Given the description of an element on the screen output the (x, y) to click on. 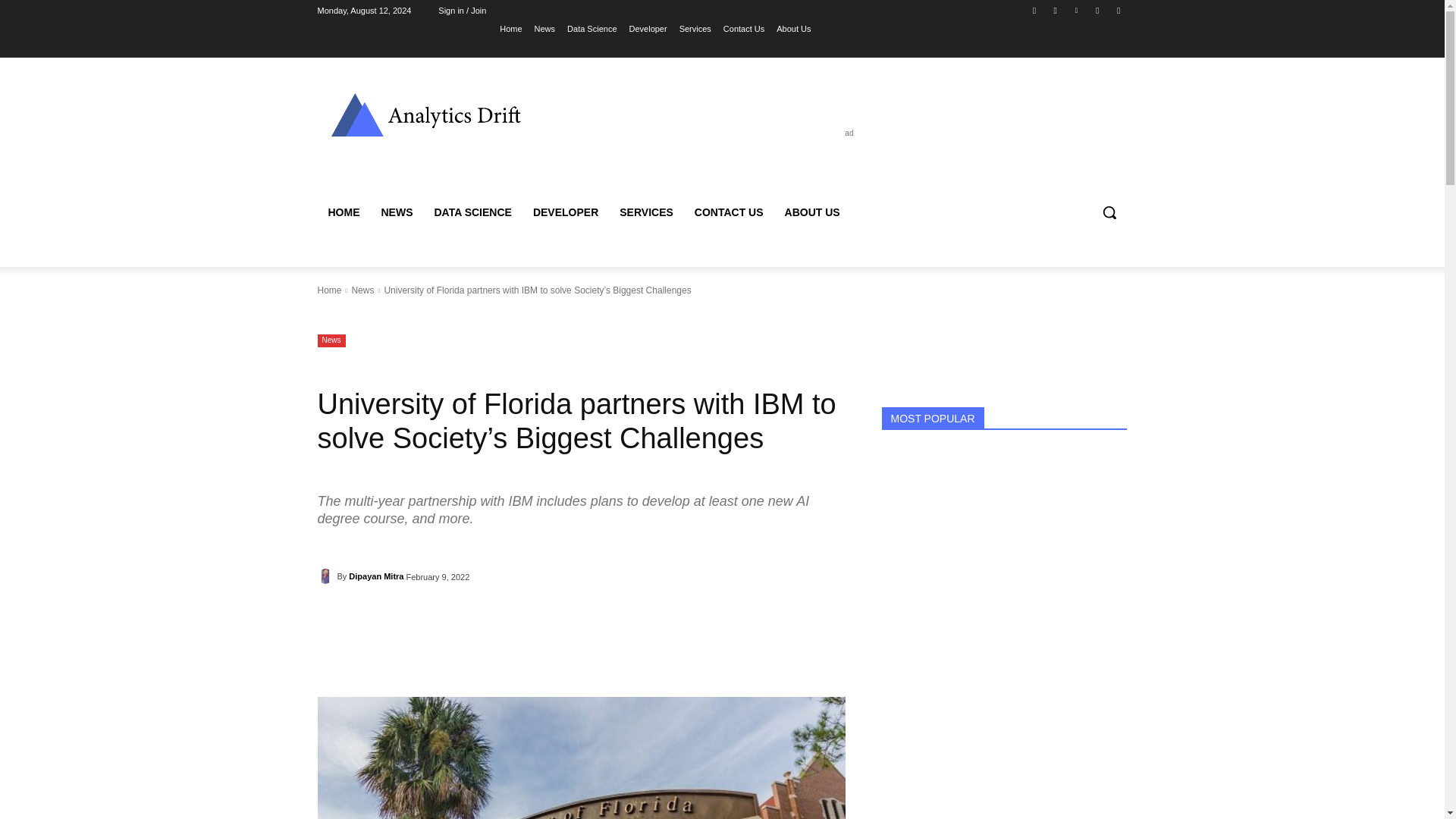
News (362, 290)
Data Science (591, 28)
Home (328, 290)
SERVICES (646, 212)
Twitter (1117, 9)
Facebook (1034, 9)
DATA SCIENCE (472, 212)
About Us (793, 28)
News (545, 28)
Home (510, 28)
